Given the description of an element on the screen output the (x, y) to click on. 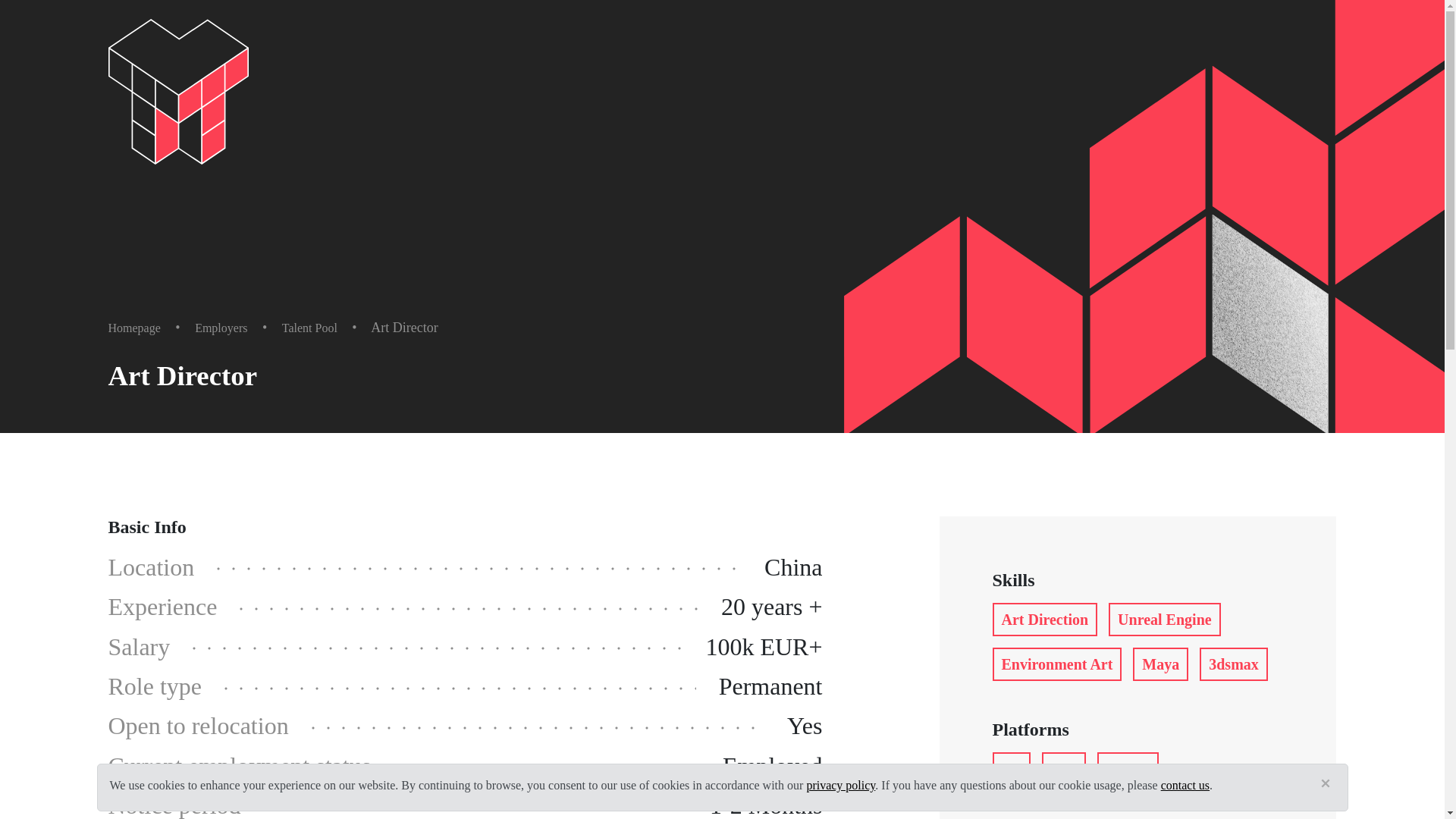
privacy policy (840, 784)
Employers (221, 327)
Talent Pool (309, 327)
contact us (1184, 784)
Homepage (133, 327)
